Given the description of an element on the screen output the (x, y) to click on. 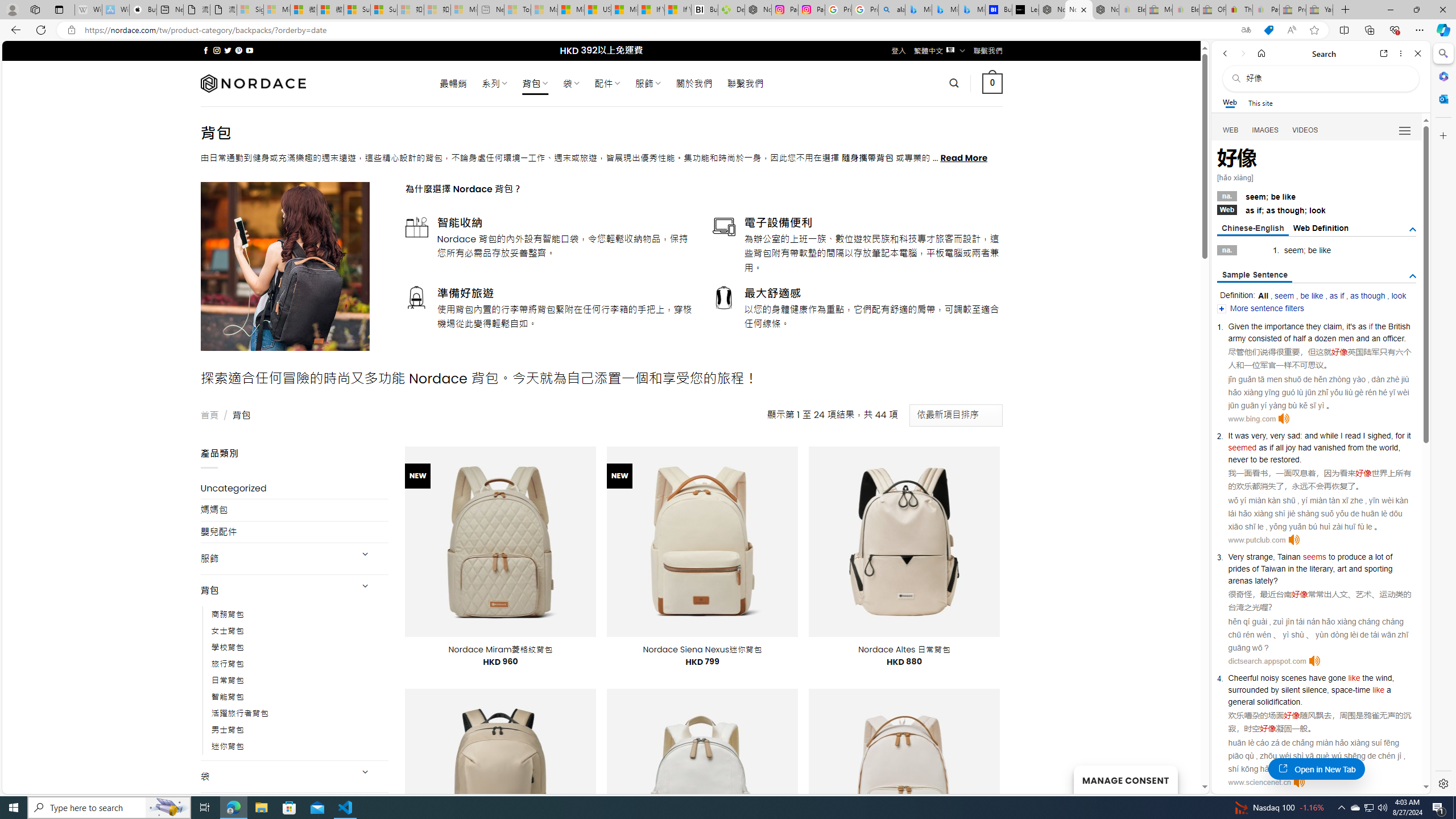
Follow on Instagram (216, 50)
the (1367, 677)
Yard, Garden & Outdoor Living - Sleeping (1319, 9)
Cheerful (1242, 677)
Microsoft Bing Travel - Shangri-La Hotel Bangkok (971, 9)
Follow on Pinterest (237, 50)
